Given the description of an element on the screen output the (x, y) to click on. 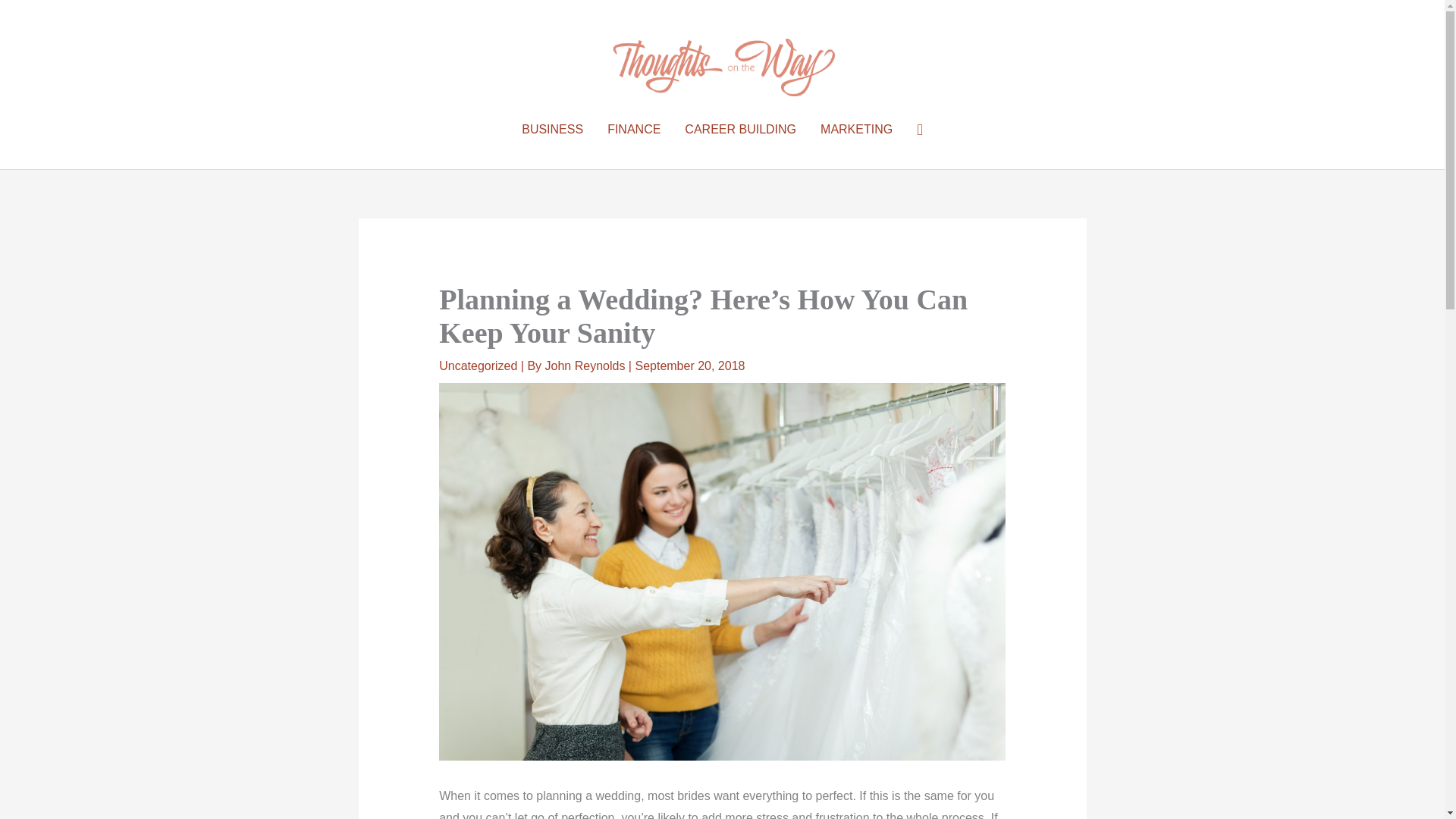
View all posts by John Reynolds (586, 365)
John Reynolds (586, 365)
FINANCE (633, 129)
Uncategorized (477, 365)
MARKETING (856, 129)
CAREER BUILDING (740, 129)
BUSINESS (552, 129)
